Given the description of an element on the screen output the (x, y) to click on. 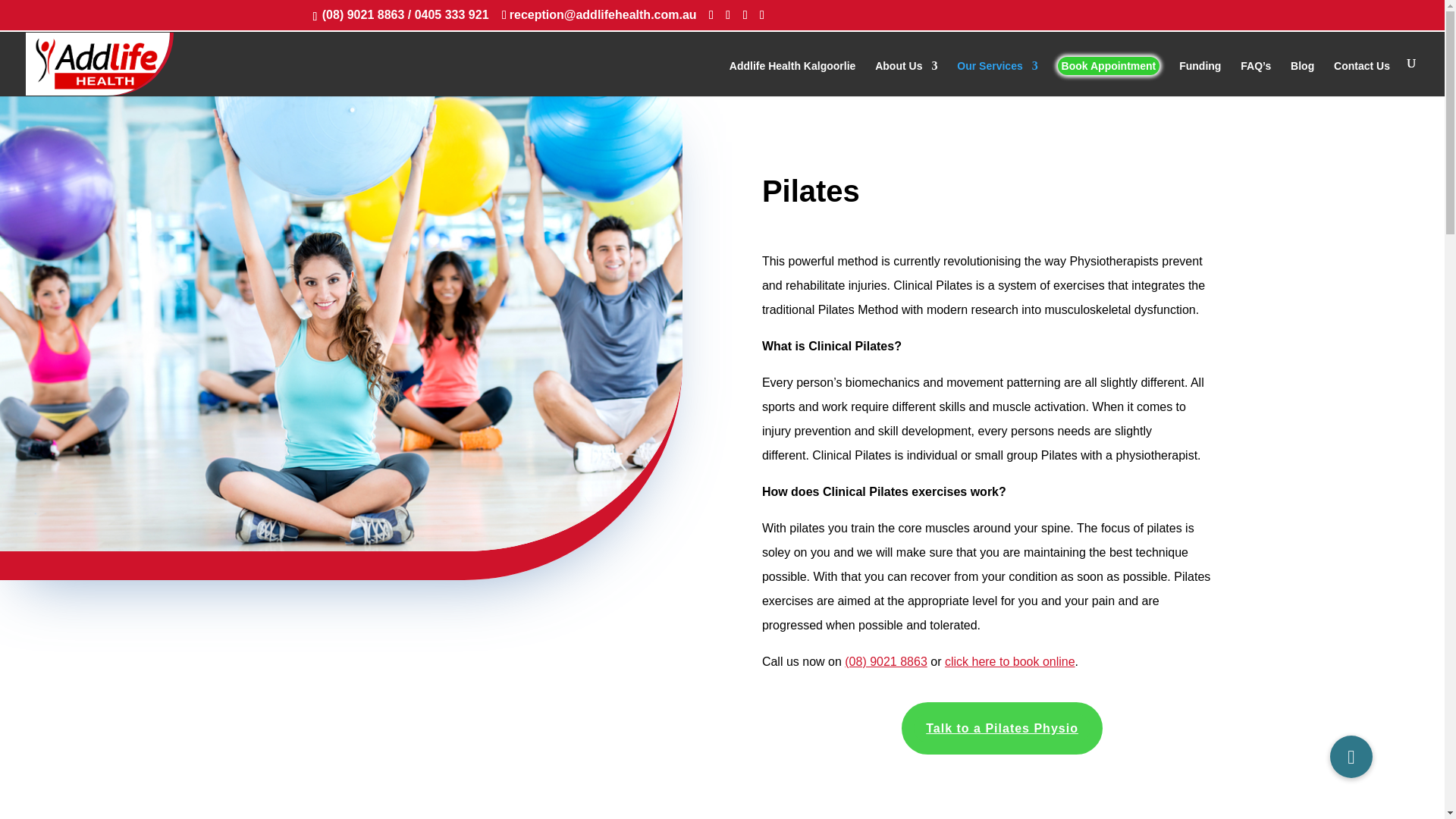
0405 333 921 (453, 14)
Addlife Health Kalgoorlie (792, 78)
Our Services (996, 78)
About Us (906, 78)
